Given the description of an element on the screen output the (x, y) to click on. 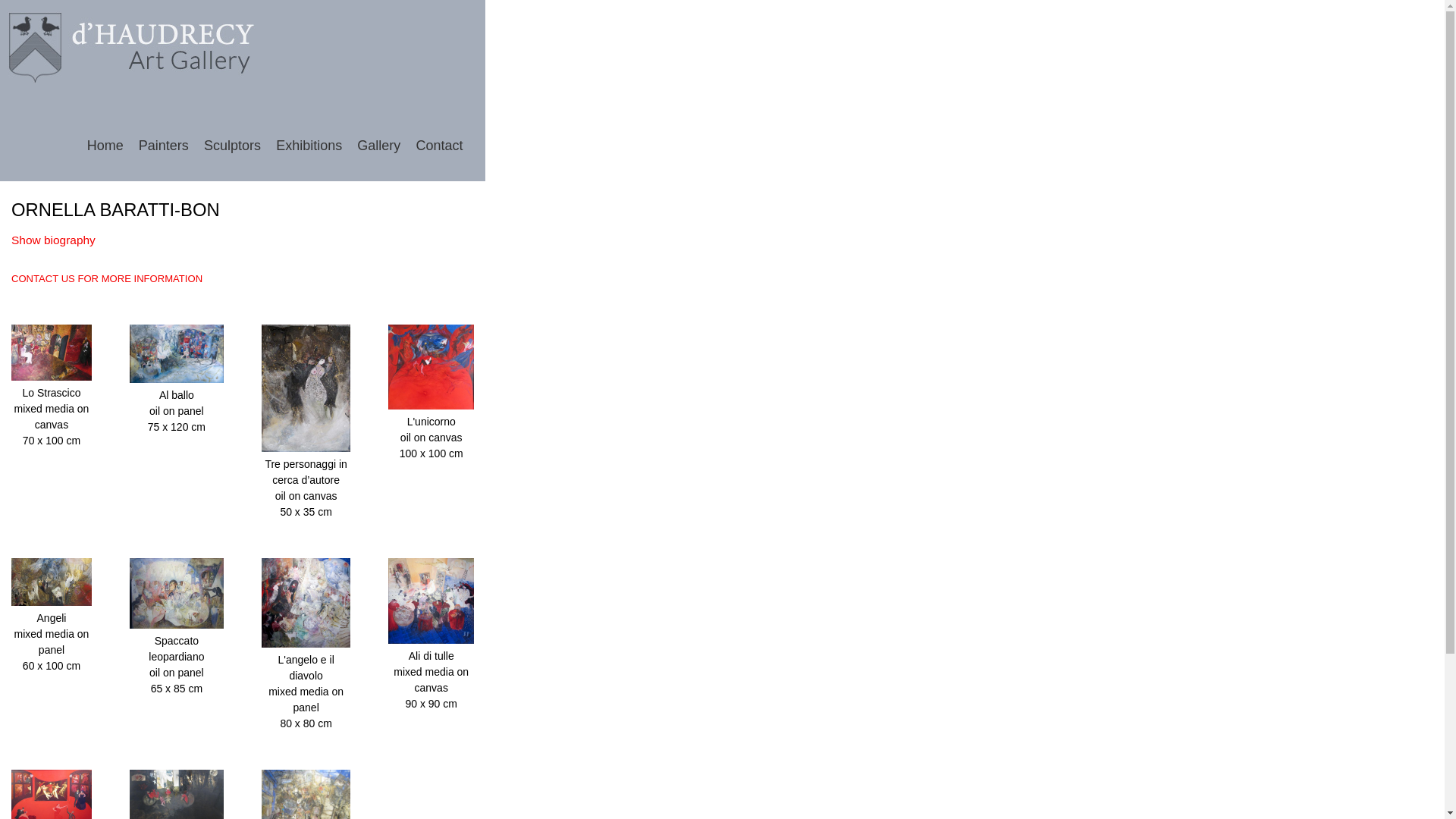
Home (133, 49)
Ornella Baratti Bon - Spaccato leopardiano - 65 x 85 (176, 624)
Sculptors (226, 145)
Painters (157, 145)
Show biography (53, 239)
Gallery (372, 145)
Ornella Baratti Bon - L'unicorno - 100 x 100 (431, 405)
Home (98, 145)
Ornella Baratti Bon - L'angelo e il diavolo - 80 x 80 (306, 644)
Exhibitions (302, 145)
